Given the description of an element on the screen output the (x, y) to click on. 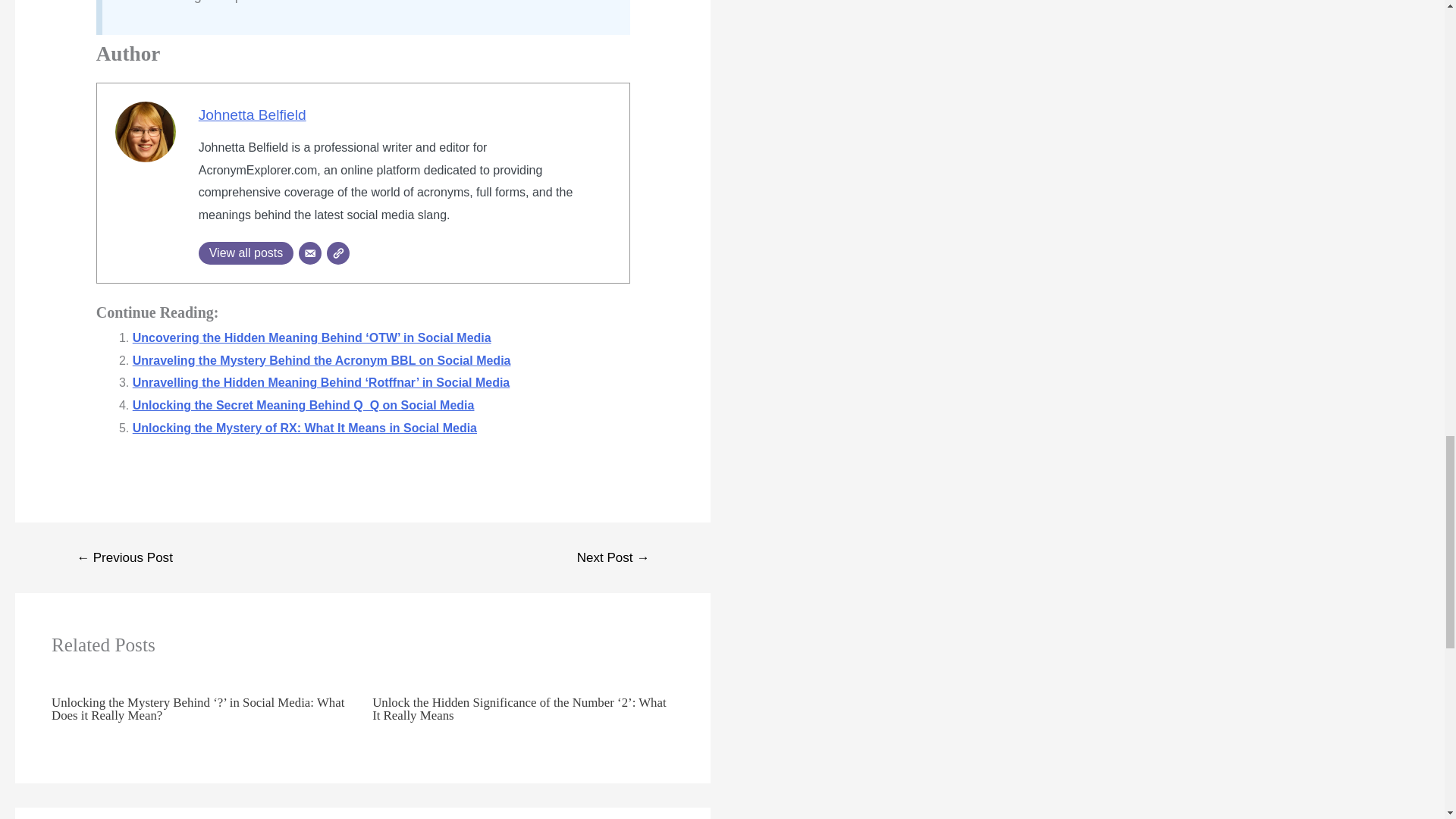
Unlocking the Mystery of RX: What It Means in Social Media (304, 427)
Johnetta Belfield (251, 114)
View all posts (246, 252)
Unlocking the Mystery of RX: What It Means in Social Media (304, 427)
View all posts (246, 252)
Johnetta Belfield (251, 114)
